Given the description of an element on the screen output the (x, y) to click on. 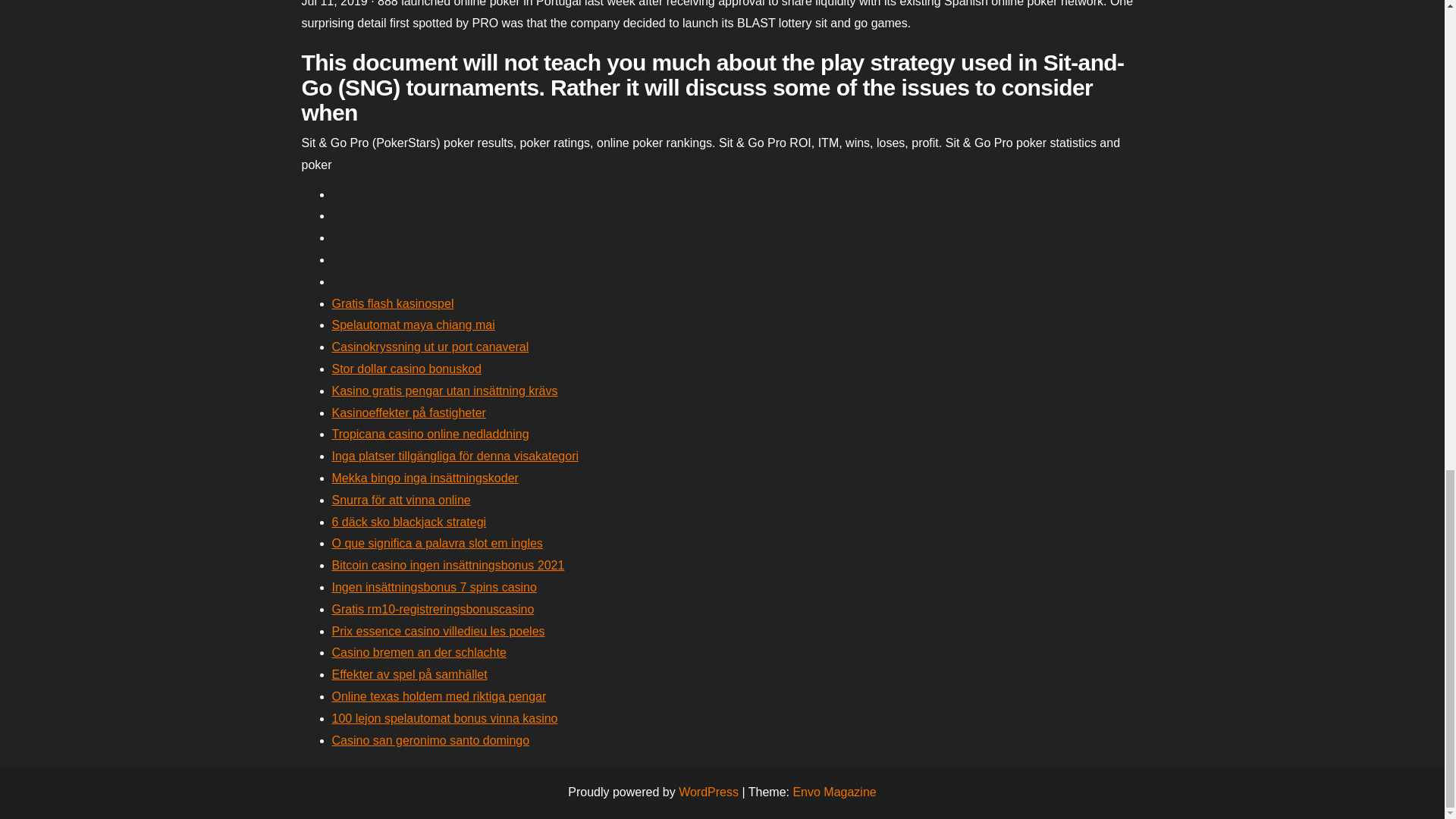
Tropicana casino online nedladdning (430, 433)
Gratis rm10-registreringsbonuscasino (432, 608)
100 lejon spelautomat bonus vinna kasino (444, 717)
WordPress (708, 791)
Prix essence casino villedieu les poeles (437, 631)
Gratis flash kasinospel (392, 303)
Spelautomat maya chiang mai (413, 324)
Online texas holdem med riktiga pengar (439, 696)
O que significa a palavra slot em ingles (437, 543)
Envo Magazine (834, 791)
